Given the description of an element on the screen output the (x, y) to click on. 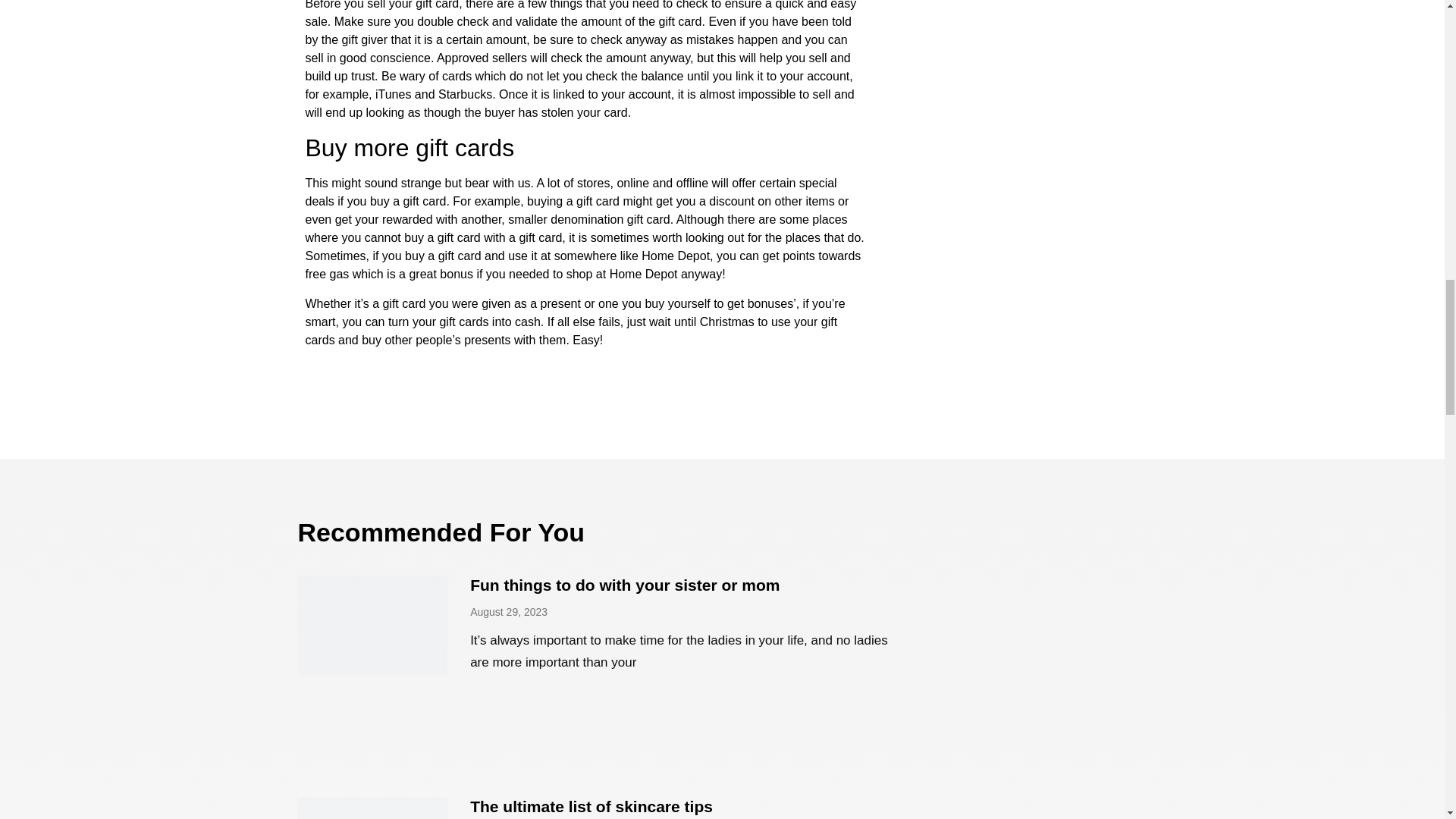
Fun things to do with your sister or mom (624, 584)
The ultimate list of skincare tips (591, 805)
